Given the description of an element on the screen output the (x, y) to click on. 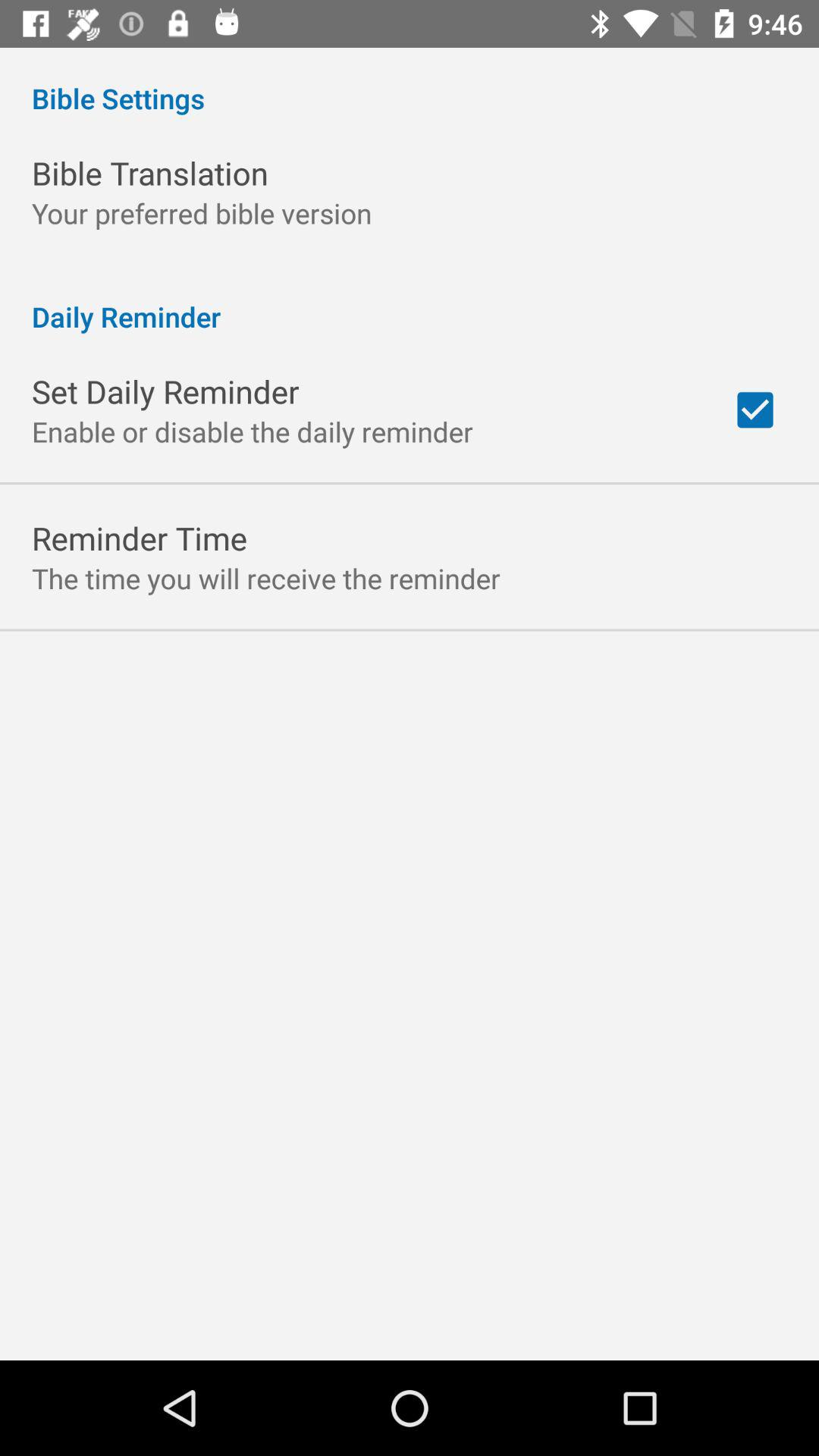
scroll until the bible translation item (149, 172)
